Given the description of an element on the screen output the (x, y) to click on. 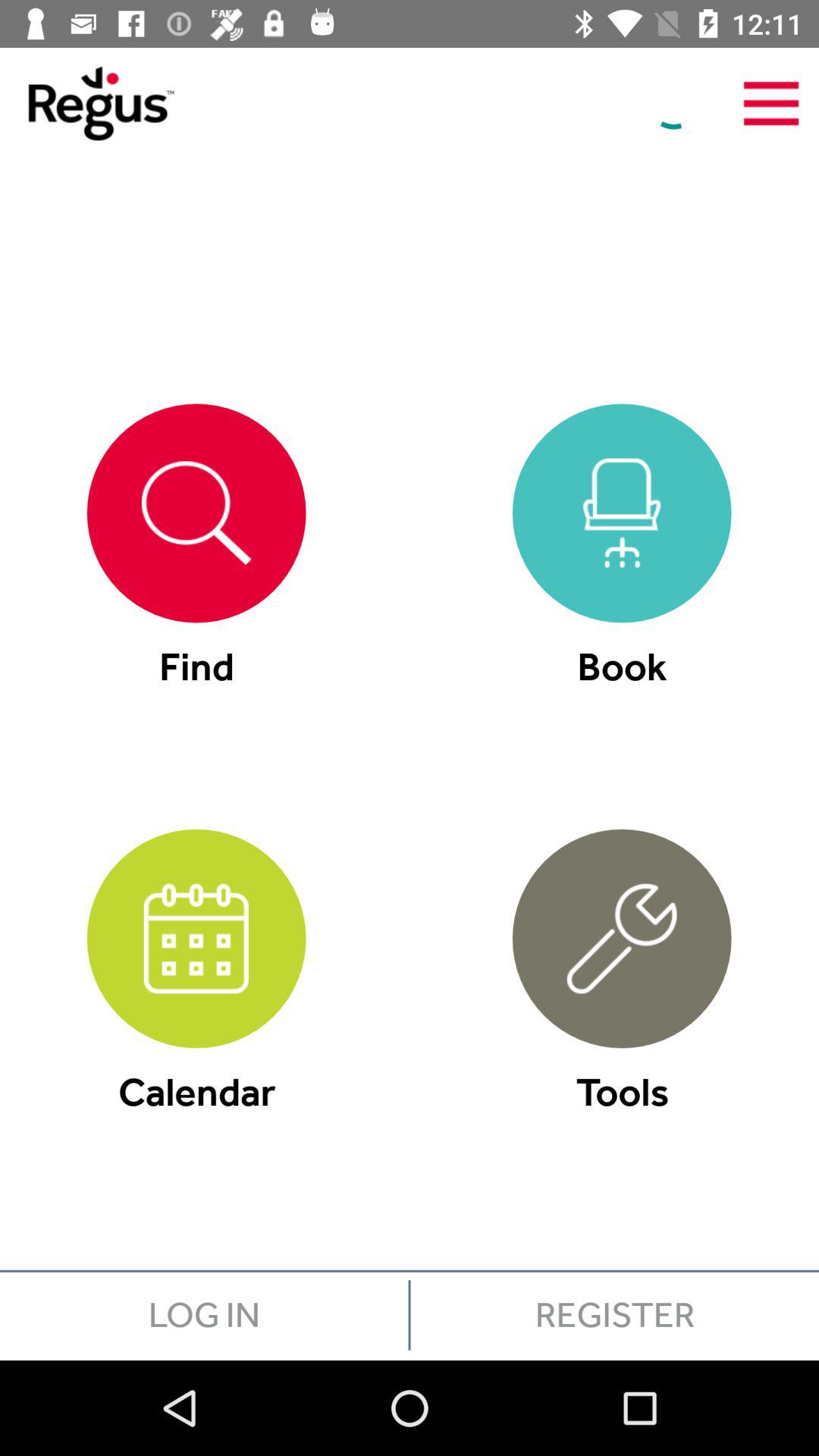
click the icon at the top left corner (87, 103)
